Given the description of an element on the screen output the (x, y) to click on. 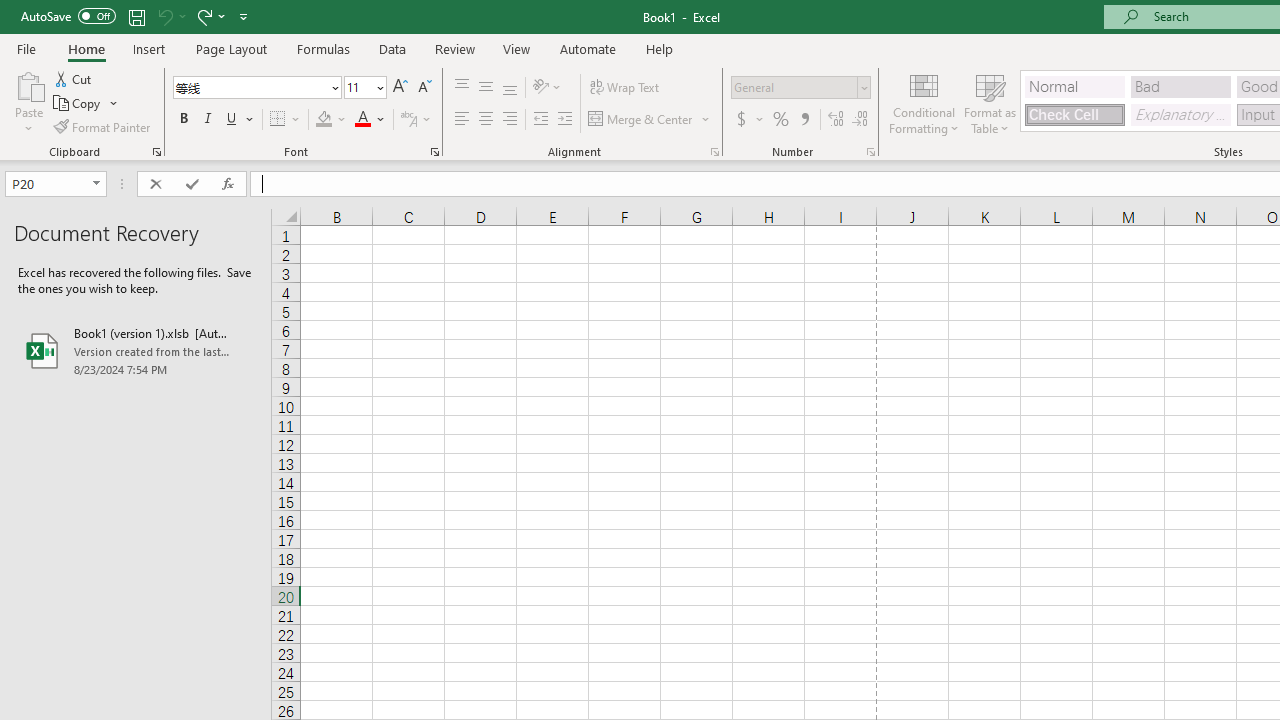
Decrease Font Size (424, 87)
Wrap Text (624, 87)
Increase Decimal (836, 119)
Show Phonetic Field (416, 119)
Font (256, 87)
Decrease Indent (540, 119)
Percent Style (781, 119)
Format Painter (103, 126)
Center (485, 119)
Top Align (461, 87)
Bold (183, 119)
Bottom Align (509, 87)
